Given the description of an element on the screen output the (x, y) to click on. 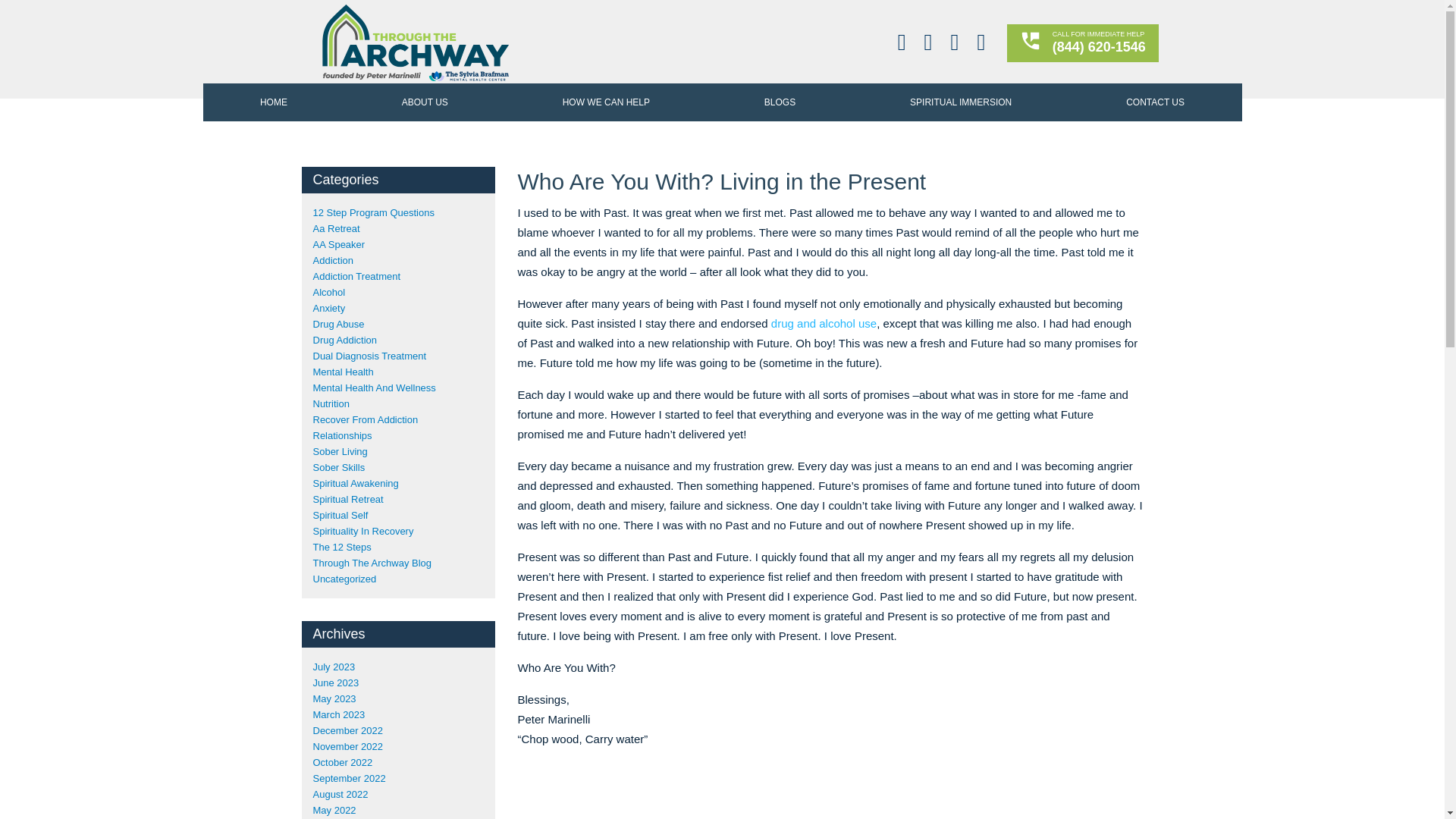
HOW WE CAN HELP (606, 102)
ABOUT US (424, 102)
12 Step Program Questions (373, 212)
CONTACT US (1155, 102)
Aa Retreat (336, 228)
BLOGS (780, 102)
HOME (273, 102)
SPIRITUAL IMMERSION (960, 102)
